Given the description of an element on the screen output the (x, y) to click on. 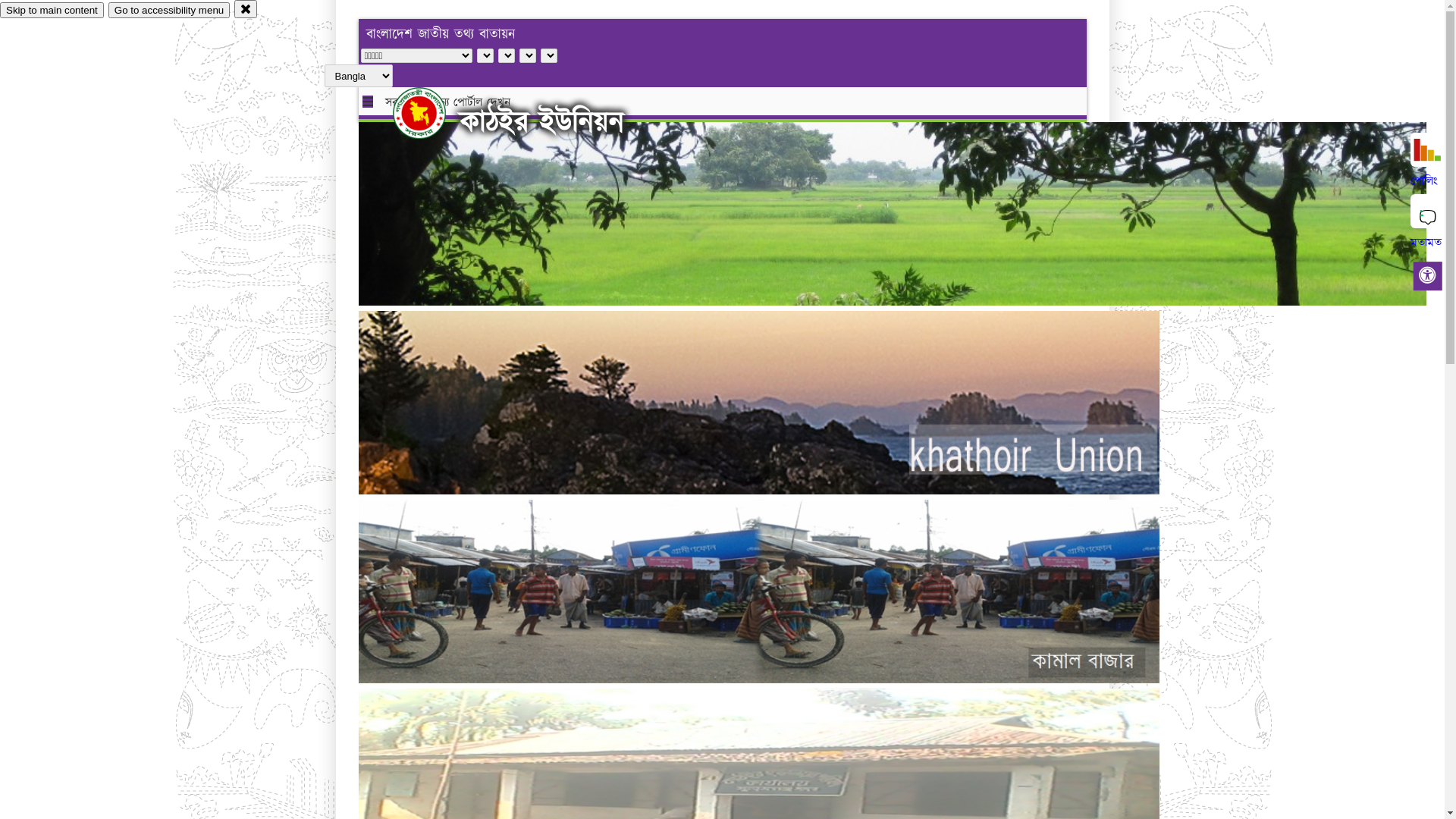
Go to accessibility menu Element type: text (168, 10)

                
             Element type: hover (431, 112)
close Element type: hover (245, 9)
Skip to main content Element type: text (51, 10)
